Given the description of an element on the screen output the (x, y) to click on. 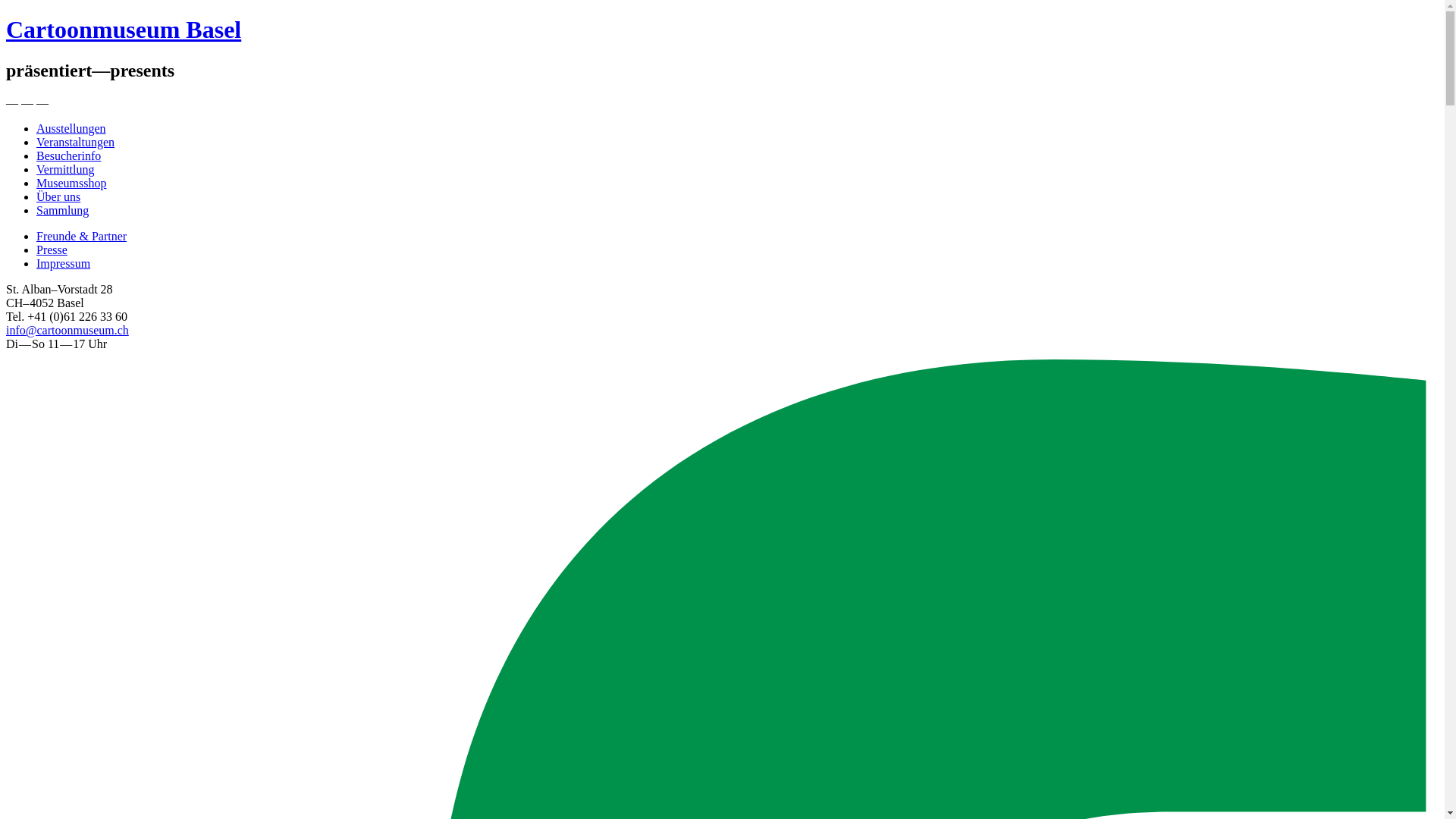
Ausstellungen Element type: text (71, 128)
Veranstaltungen Element type: text (75, 141)
Impressum Element type: text (63, 263)
Presse Element type: text (51, 249)
Besucherinfo Element type: text (68, 155)
Freunde & Partner Element type: text (81, 235)
Cartoonmuseum Basel Element type: text (123, 29)
Sammlung Element type: text (62, 209)
info@cartoonmuseum.ch Element type: text (67, 329)
Vermittlung Element type: text (65, 169)
Museumsshop Element type: text (71, 182)
